Given the description of an element on the screen output the (x, y) to click on. 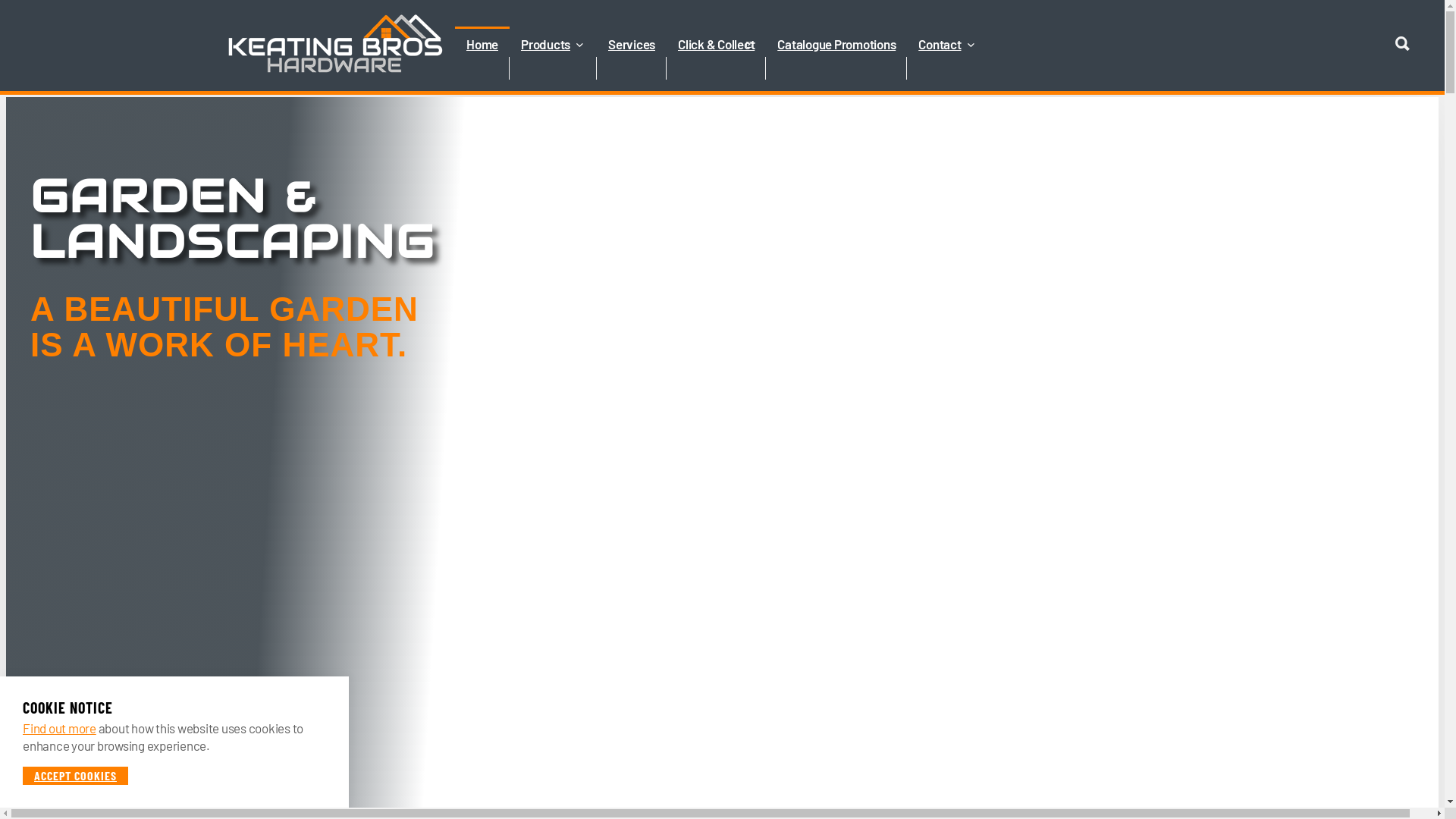
Catalogue Promotions Element type: text (835, 68)
Find out more Element type: text (59, 727)
Home Element type: text (482, 68)
Click & Collect Element type: text (715, 68)
Keating Brothers Hardware Element type: text (335, 43)
Products Element type: text (552, 68)
Services Element type: text (631, 68)
ACCEPT COOKIES Element type: text (75, 775)
Skip to the content Element type: text (721, 12)
Contact Element type: text (946, 68)
